Given the description of an element on the screen output the (x, y) to click on. 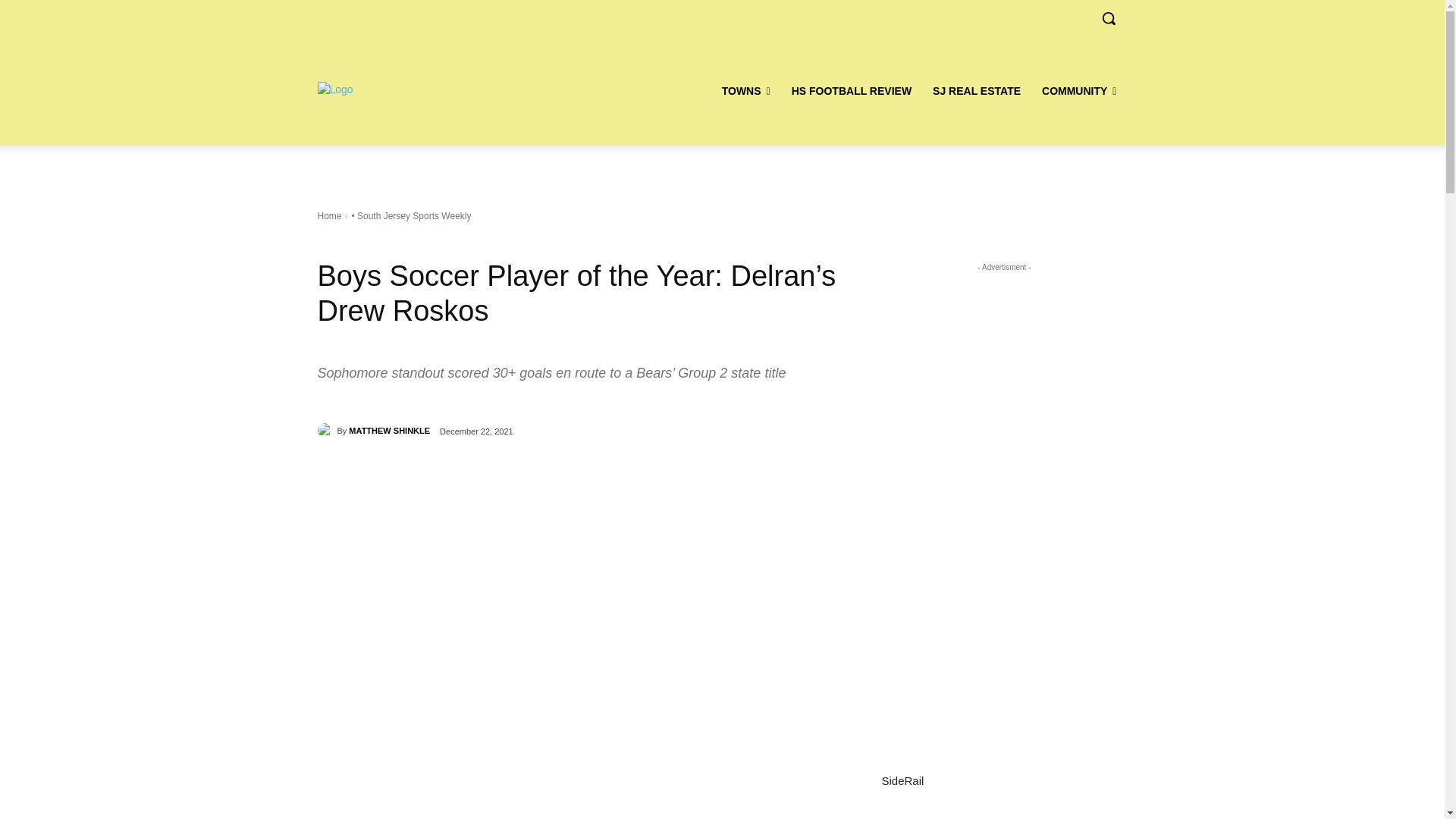
MATTHEW SHINKLE (326, 430)
